Given the description of an element on the screen output the (x, y) to click on. 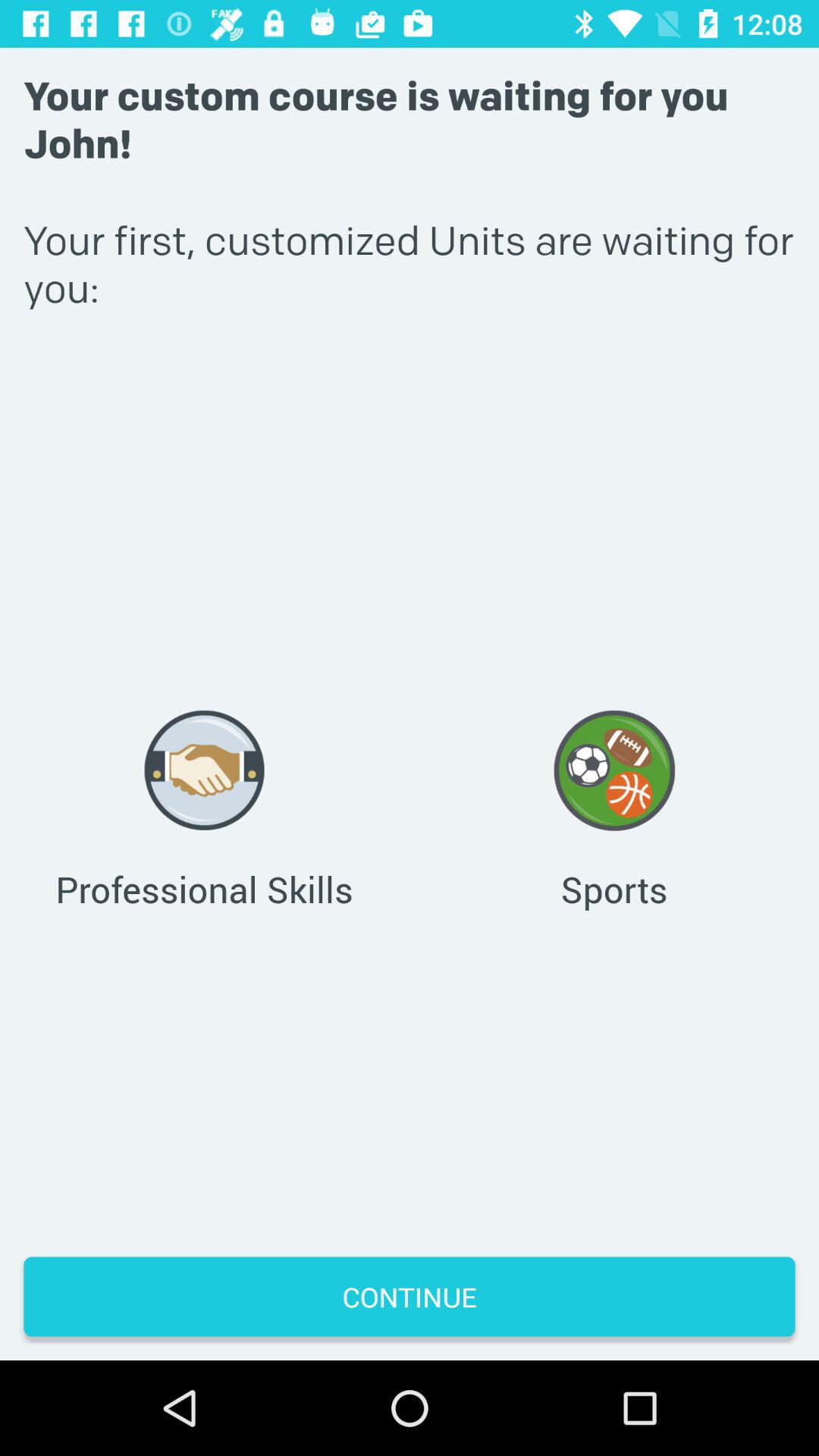
turn off the continue button (409, 1296)
